Given the description of an element on the screen output the (x, y) to click on. 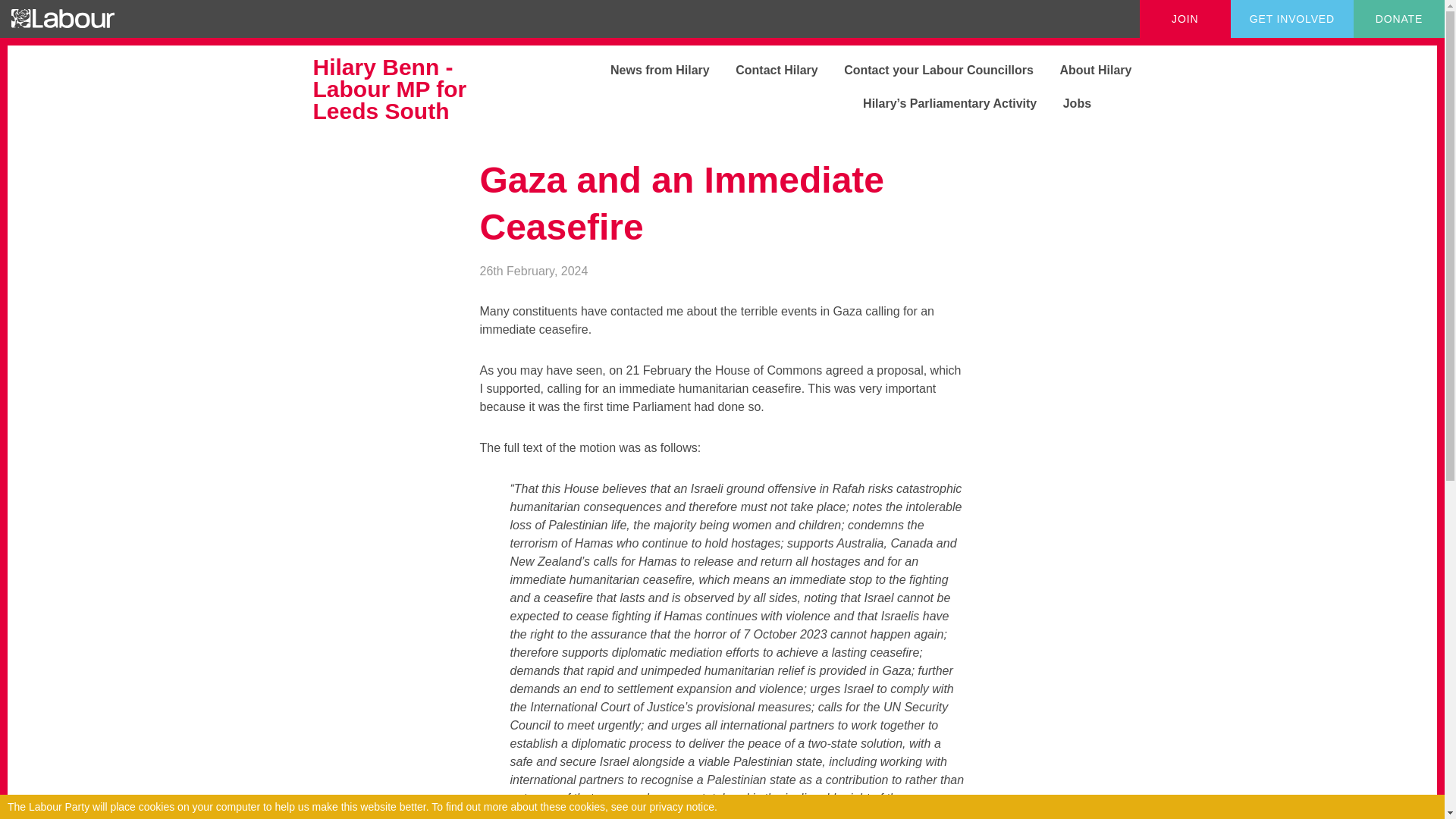
About Hilary (1083, 69)
GET INVOLVED (1292, 18)
Hilary Benn - Labour MP for Leeds South (399, 89)
Contact your Labour Councillors (927, 69)
Contact Hilary (764, 69)
News from Hilary (649, 69)
JOIN (1185, 18)
Jobs (1065, 103)
